Given the description of an element on the screen output the (x, y) to click on. 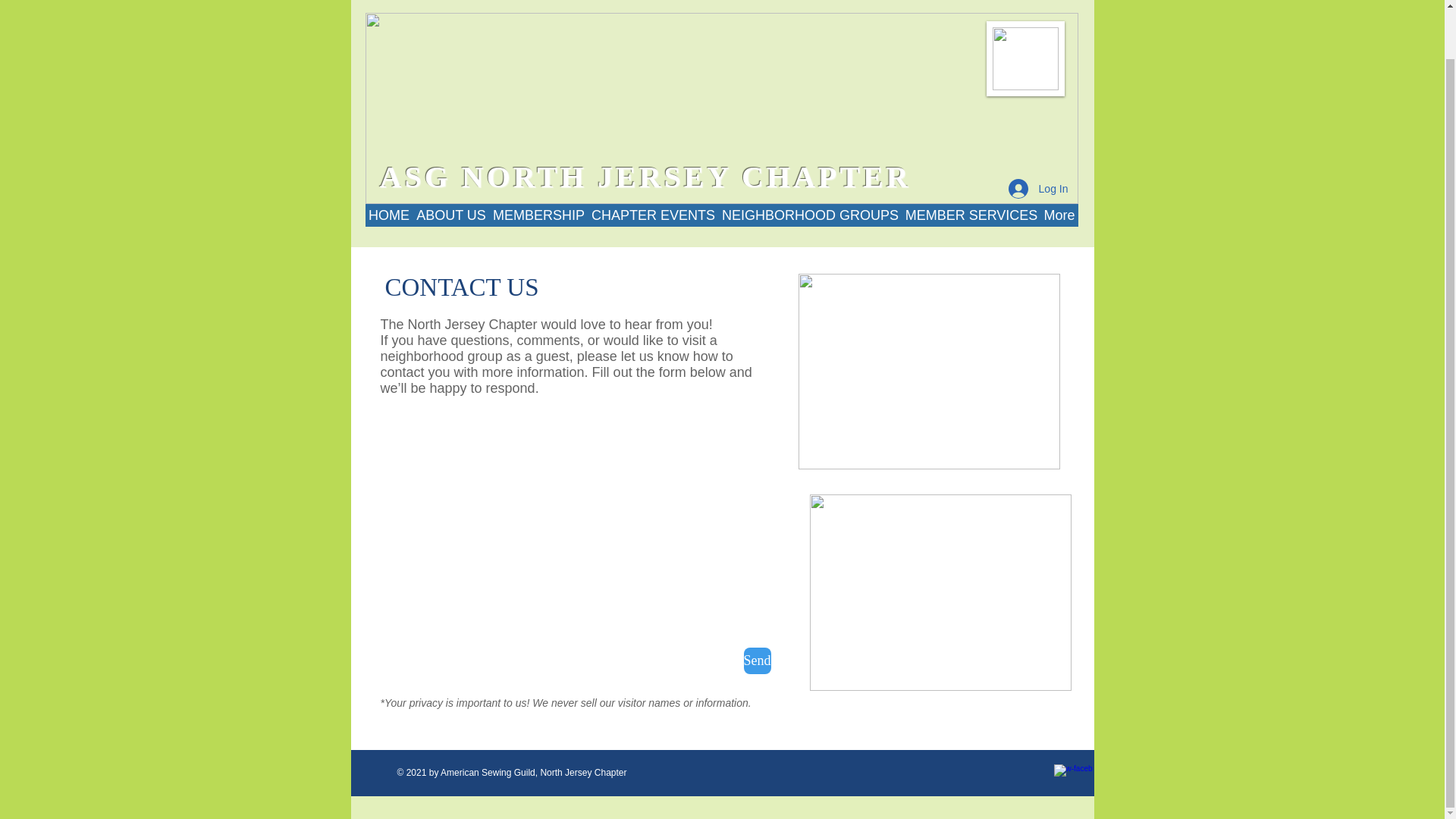
Log In (1037, 188)
NEIGHBORHOOD GROUPS (810, 214)
MEMBERSHIP (538, 214)
photo1.JPG (928, 371)
ABOUT US (450, 214)
HOME (389, 214)
Send (756, 660)
CHAPTER EVENTS (653, 214)
MEMBER SERVICES (971, 214)
